Given the description of an element on the screen output the (x, y) to click on. 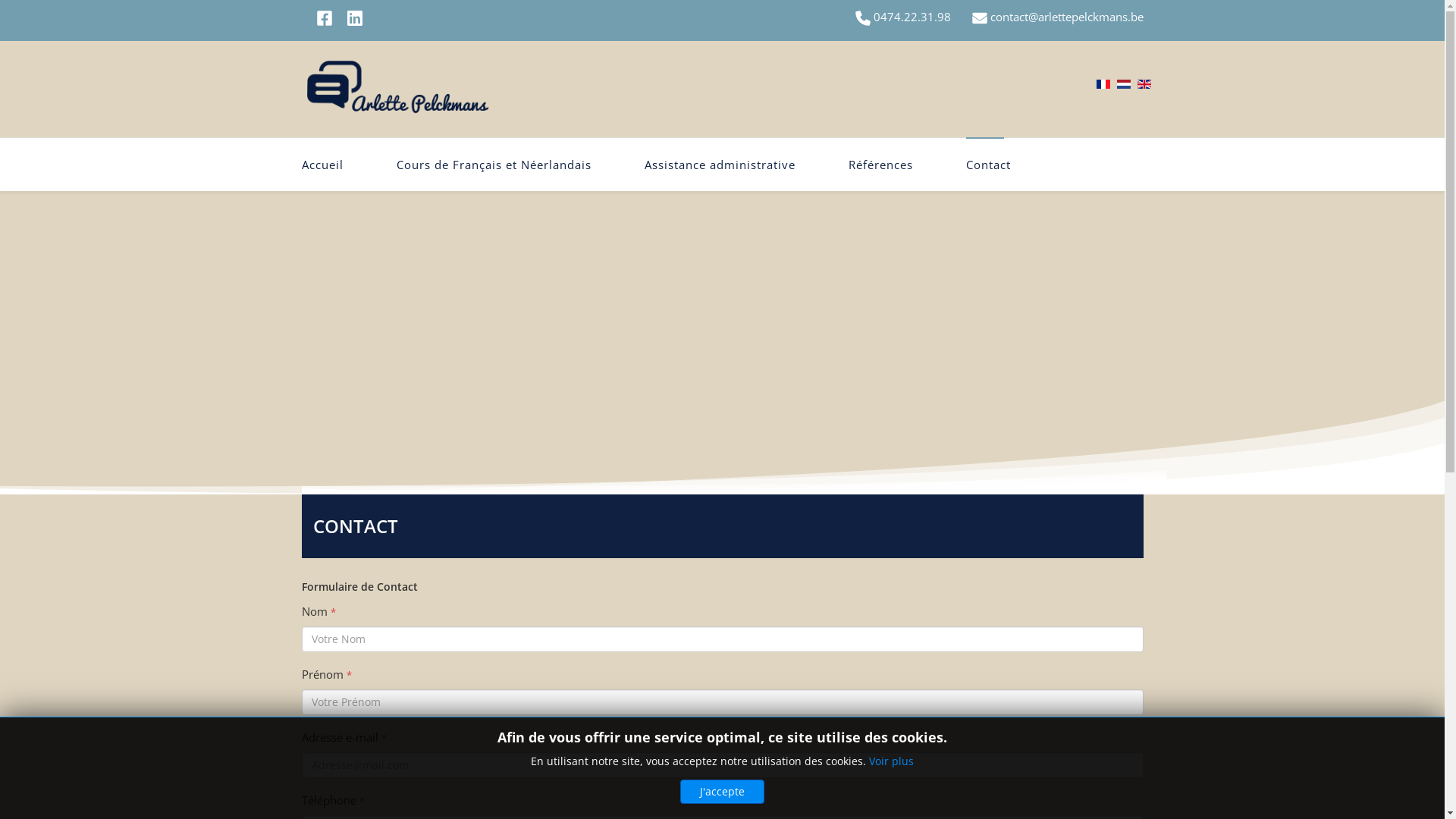
Contact Element type: text (987, 164)
contact@arlettepelckmans.be Element type: text (1066, 16)
Nederlands (nl-NL) Element type: hover (1122, 83)
Accueil Element type: text (335, 164)
Assistance administrative Element type: text (719, 164)
English (United Kingdom) Element type: hover (1144, 83)
Voir plus Element type: text (891, 760)
0474.22.31.98 Element type: text (902, 16)
